Given the description of an element on the screen output the (x, y) to click on. 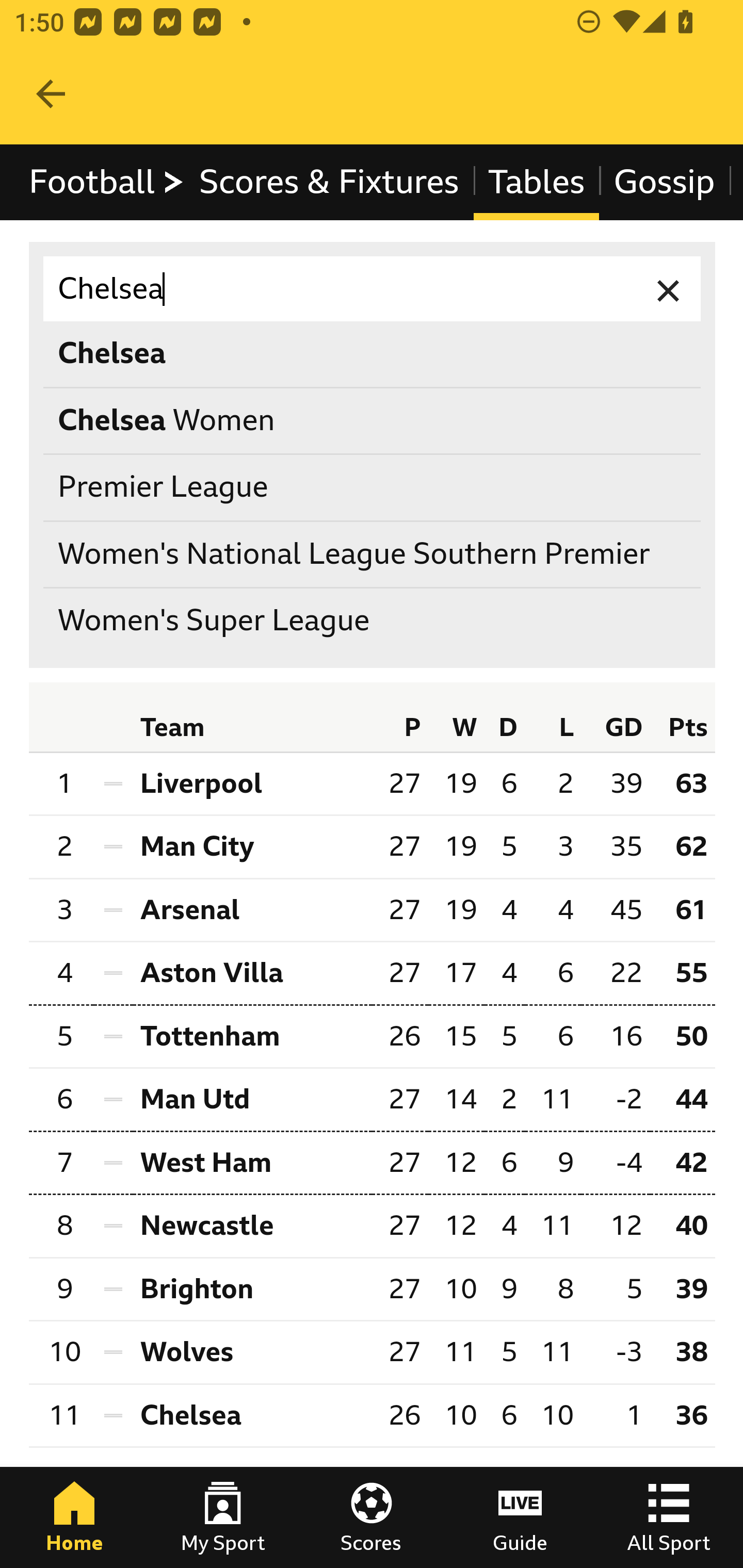
Navigate up (50, 93)
Football  (106, 181)
Scores & Fixtures (329, 181)
Tables (536, 181)
Gossip (664, 181)
Chelsea (372, 289)
Clear input (669, 289)
Chelsea Women Chelsea  Women (372, 419)
Premier League (372, 488)
Women's National League Southern Premier (372, 554)
Women's Super League (372, 620)
Liverpool (252, 783)
Man City Manchester City (252, 847)
Arsenal (252, 910)
Aston Villa (252, 973)
Tottenham Tottenham Hotspur (252, 1035)
Man Utd Manchester United (252, 1099)
West Ham West Ham United (252, 1162)
Newcastle Newcastle United (252, 1224)
Brighton Brighton & Hove Albion (252, 1289)
Wolves Wolverhampton Wanderers (252, 1351)
Chelsea (252, 1415)
My Sport (222, 1517)
Scores (371, 1517)
Guide (519, 1517)
All Sport (668, 1517)
